Given the description of an element on the screen output the (x, y) to click on. 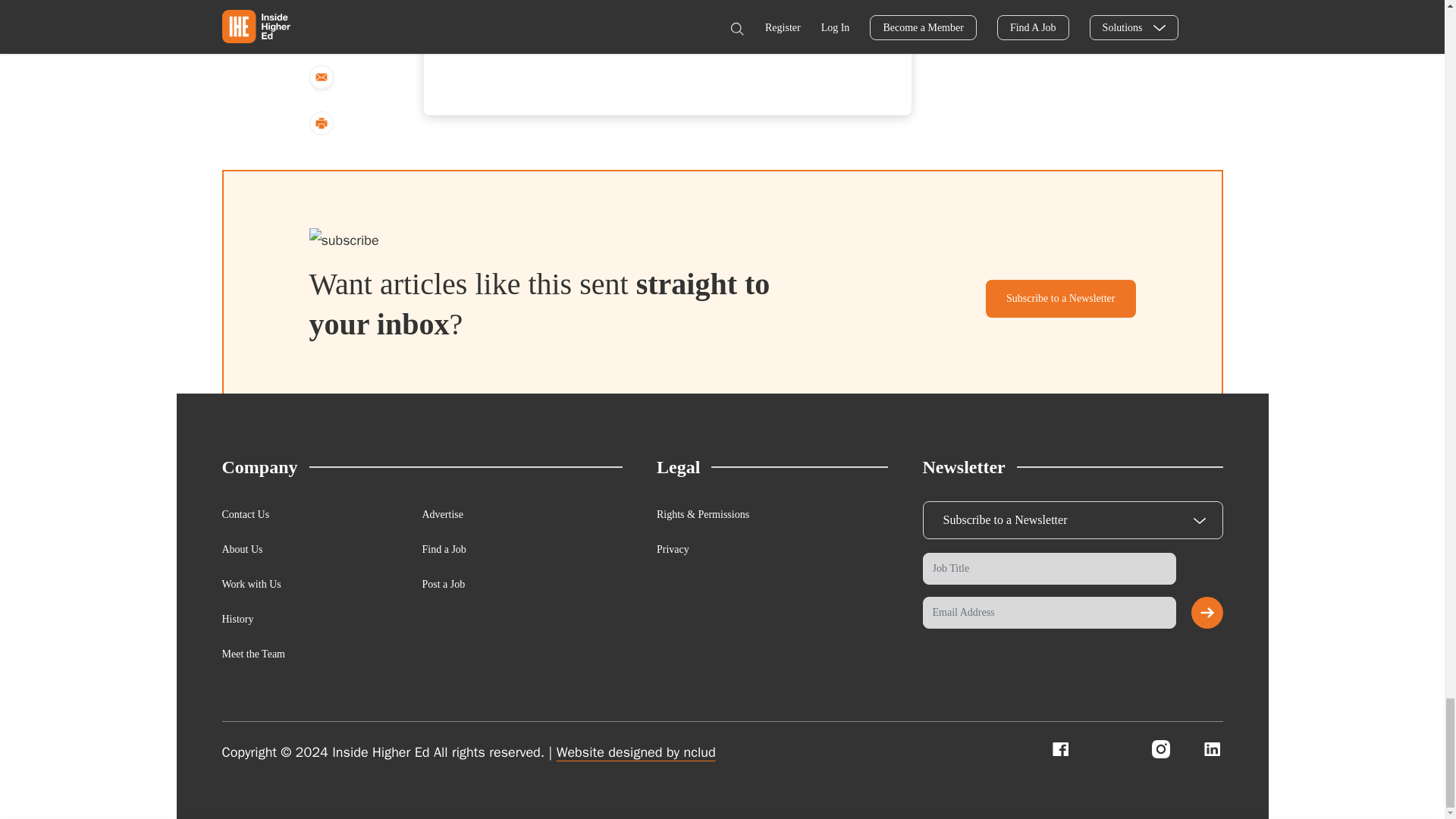
Submit (1207, 612)
